Given the description of an element on the screen output the (x, y) to click on. 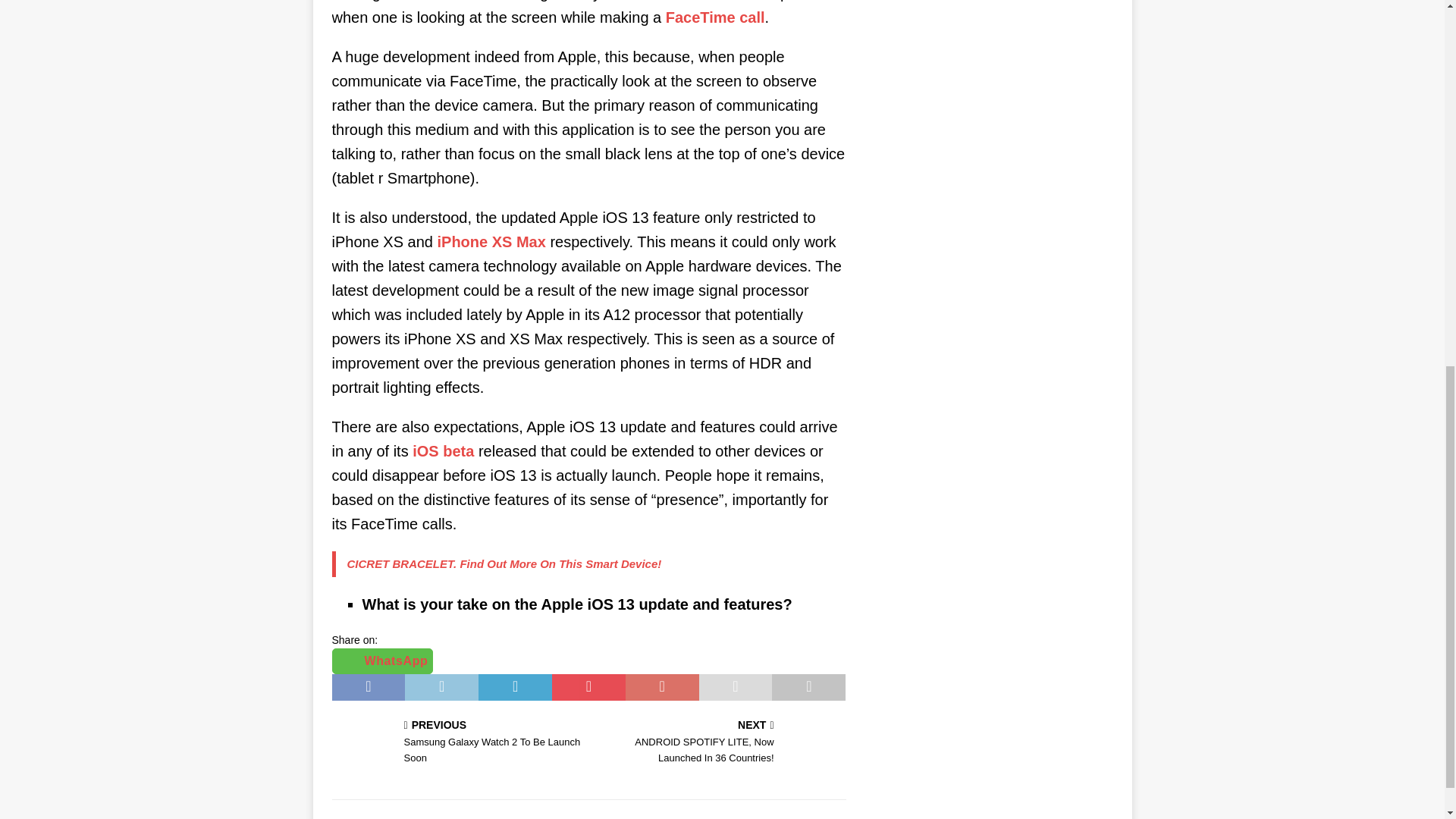
iOS beta (443, 451)
iPhone XS Max (490, 241)
WhatsApp (382, 660)
FaceTime call (715, 17)
CICRET BRACELET. Find Out More On This Smart Device! (504, 563)
